Given the description of an element on the screen output the (x, y) to click on. 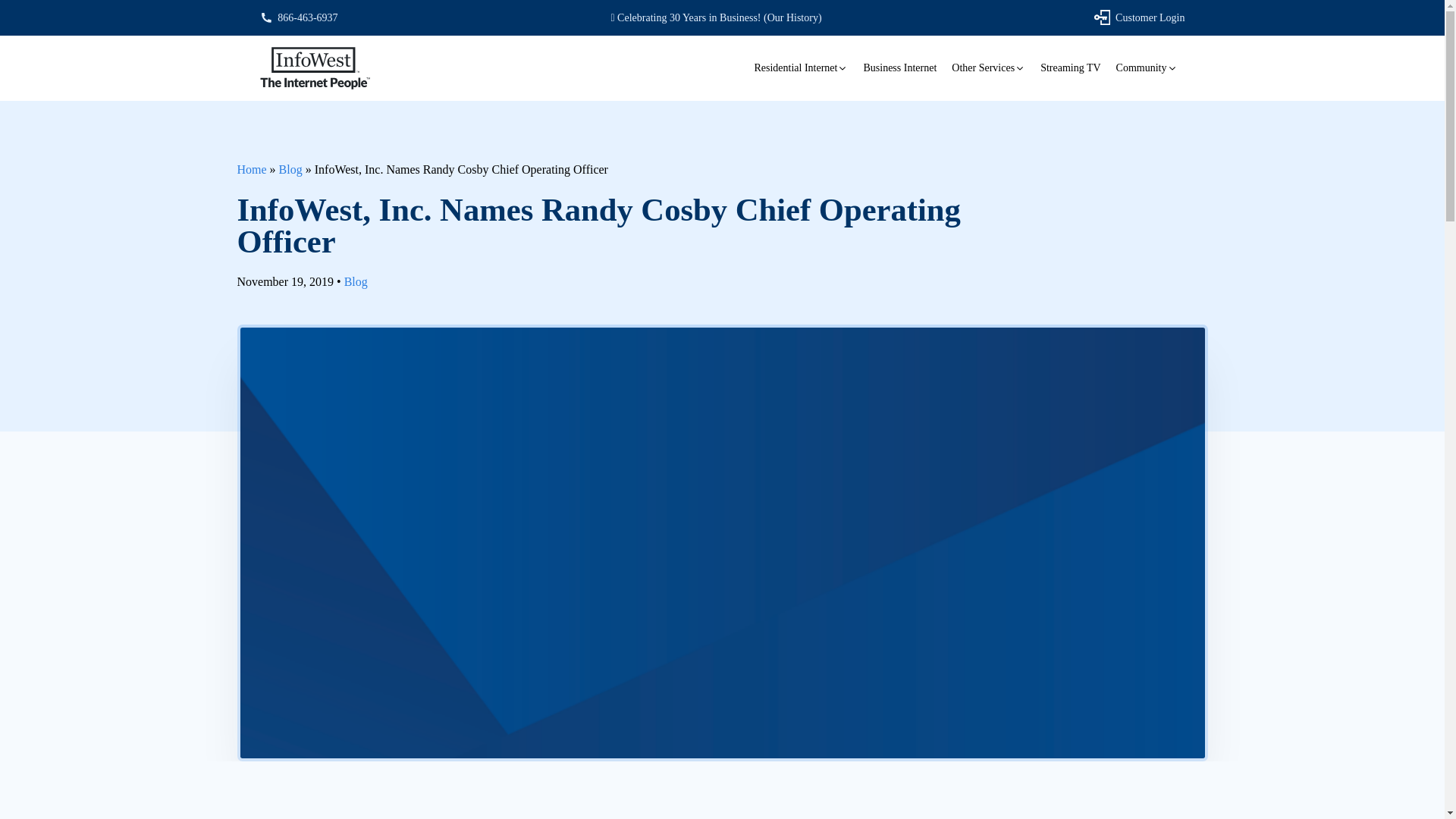
Business Internet (899, 67)
Community (1146, 67)
Blog (290, 169)
866-463-6937 (298, 17)
Residential Internet (800, 67)
Other Services (987, 67)
InfoWest - The Internet People (314, 67)
Home (250, 169)
Blog (290, 169)
Streaming TV (1070, 67)
Blog (355, 281)
Home (250, 169)
Customer Login (1139, 17)
